Given the description of an element on the screen output the (x, y) to click on. 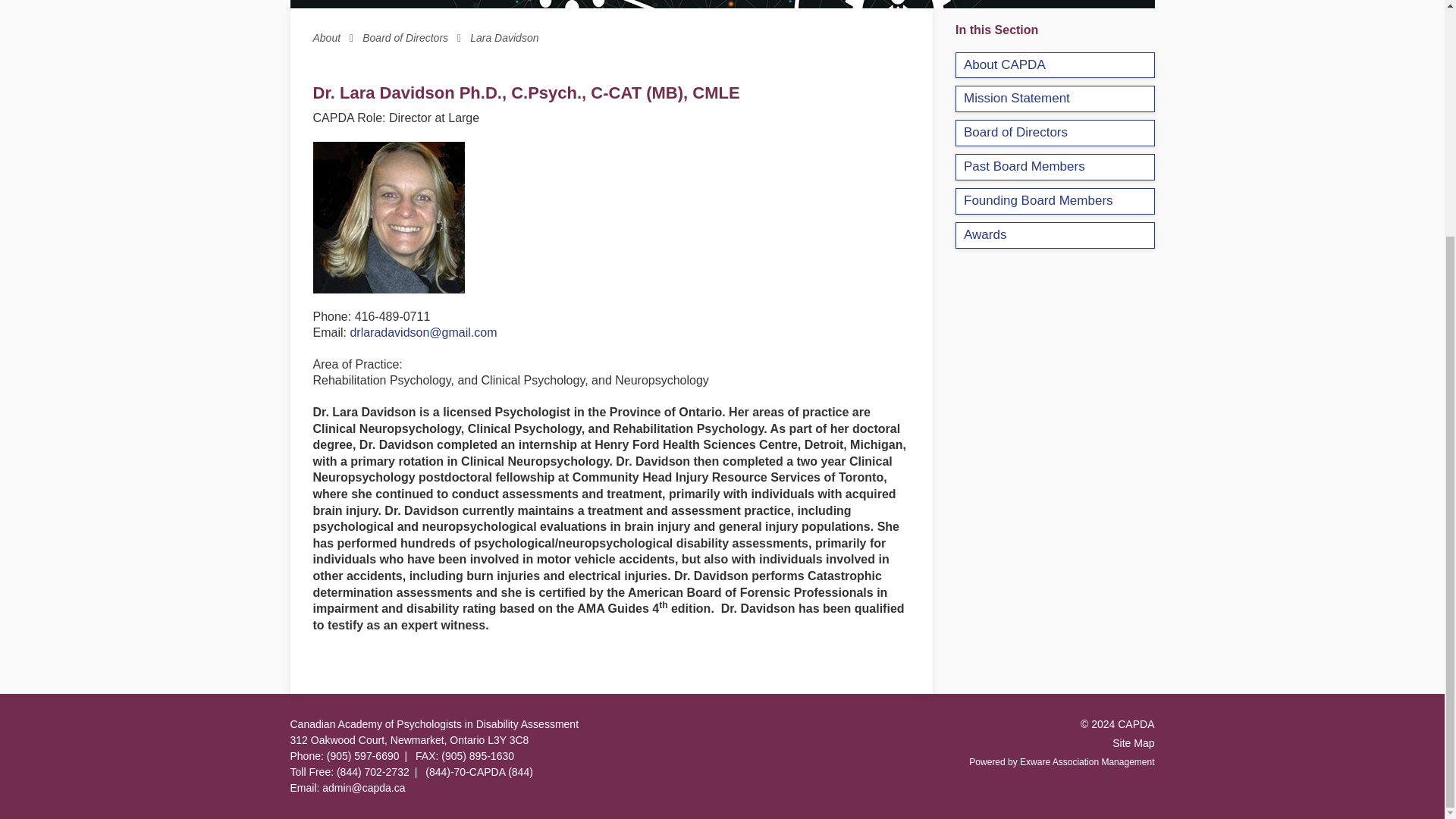
Board of Directors (416, 37)
About CAPDA (1054, 65)
About (337, 37)
Mission Statement (1054, 98)
Lara Davidson (504, 37)
